Given the description of an element on the screen output the (x, y) to click on. 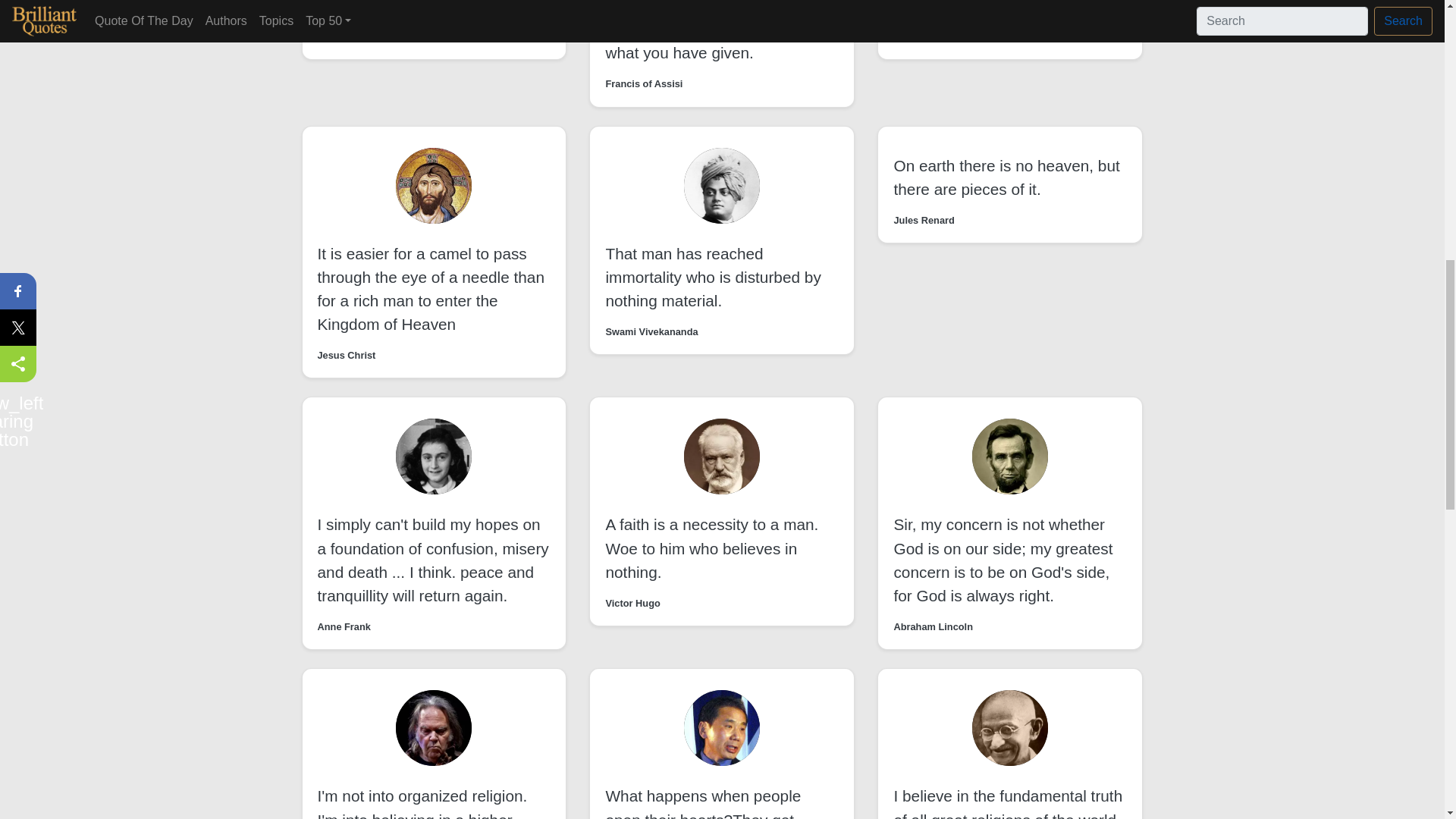
On earth there is no heaven, but there are pieces of it. (1006, 177)
Anne Frank (343, 626)
Haruki Murakami (355, 36)
Francis of Assisi (643, 83)
Jesus Christ (346, 355)
Jules Renard (923, 219)
